Given the description of an element on the screen output the (x, y) to click on. 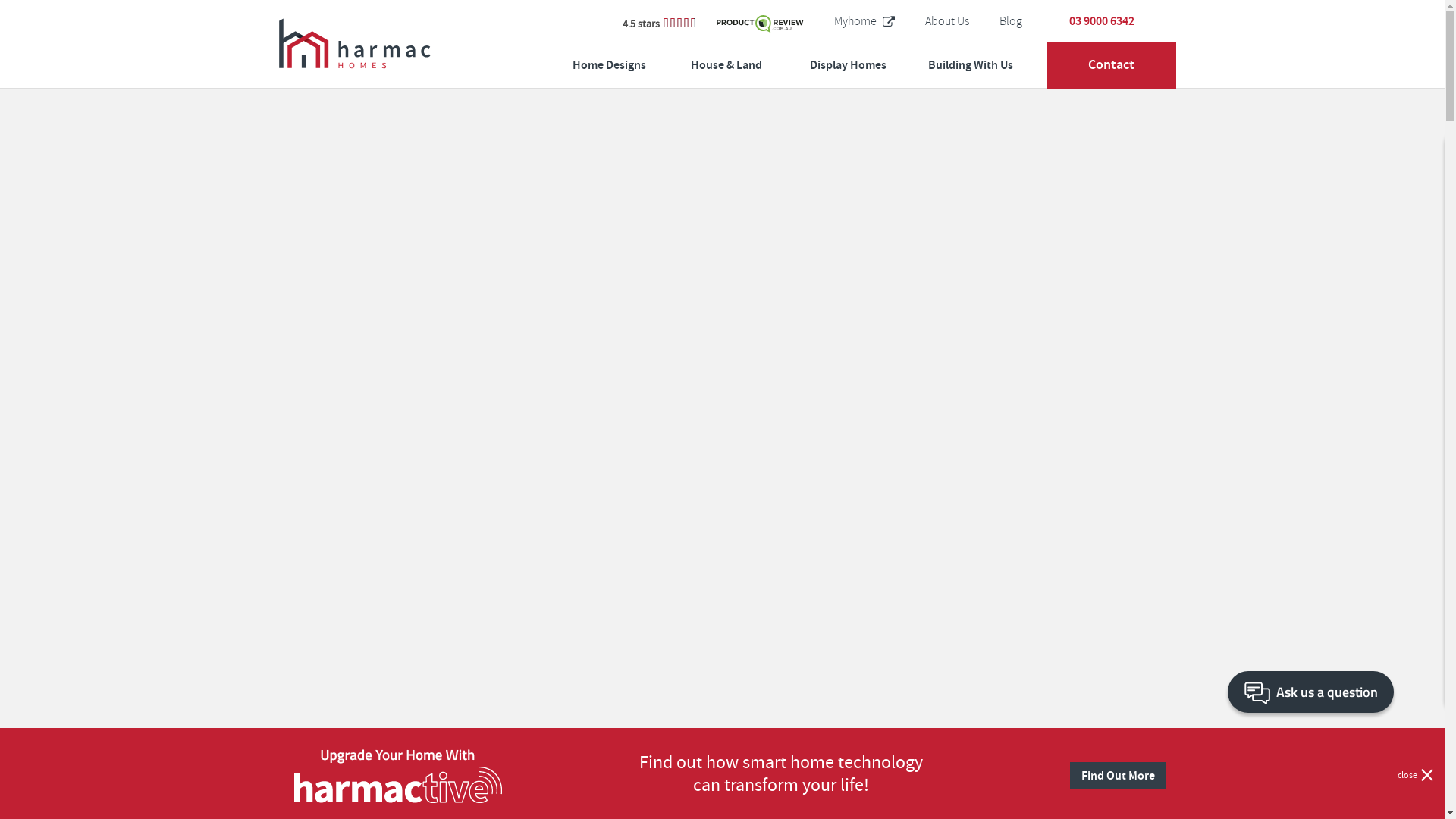
Contact Element type: text (1111, 65)
Find Out More Element type: text (1117, 775)
Blog Element type: text (1010, 21)
Home Designs Element type: text (631, 64)
03 9000 6342 Element type: text (1101, 20)
close Element type: text (1415, 774)
Building With Us Element type: text (987, 64)
House & Land Element type: text (749, 64)
Myhome Element type: text (864, 21)
Display Homes Element type: text (868, 64)
About Us Element type: text (947, 21)
